Given the description of an element on the screen output the (x, y) to click on. 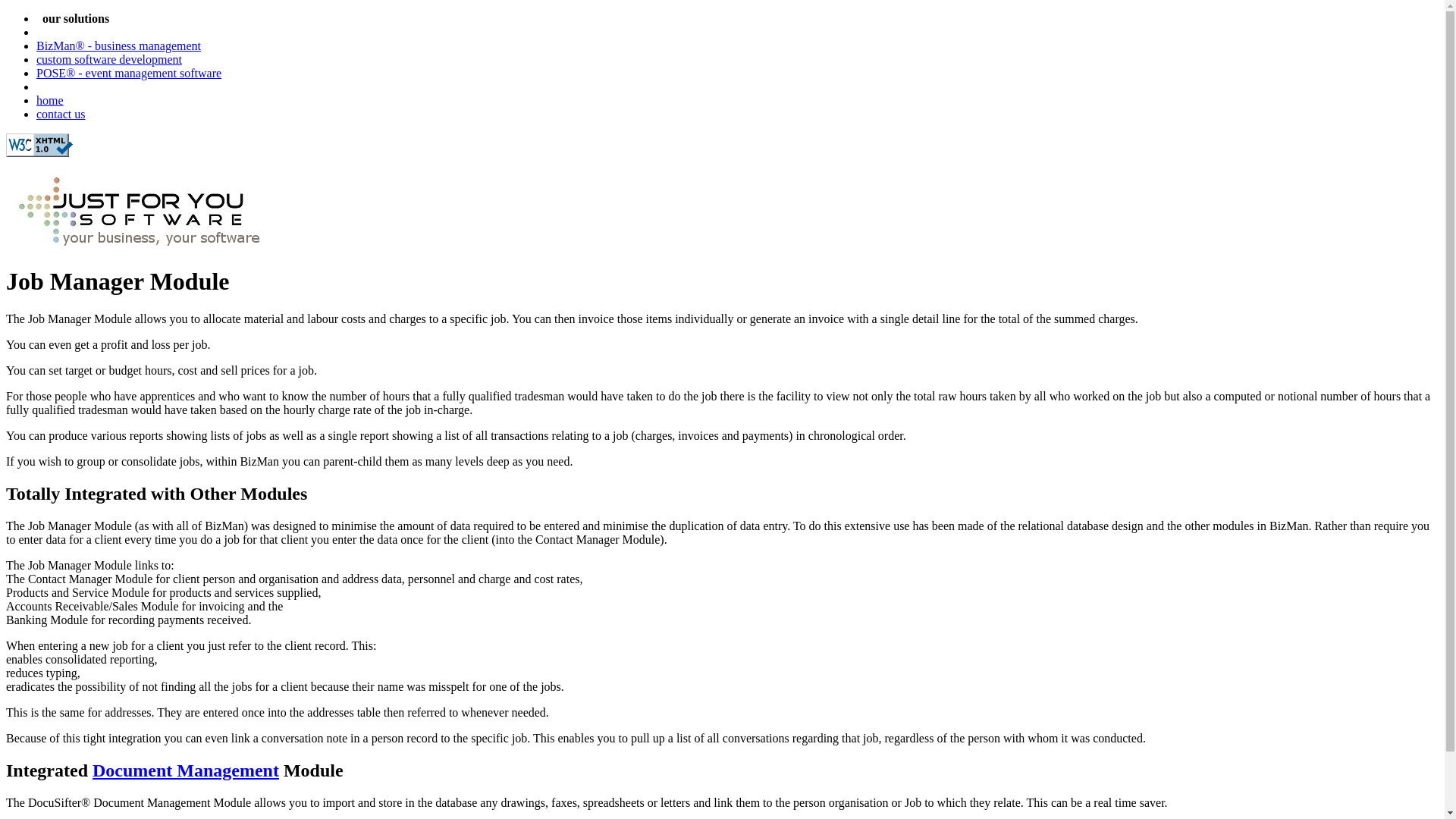
Document Management Element type: text (185, 770)
custom software development Element type: text (109, 59)
contact us Element type: text (60, 113)
home Element type: text (49, 100)
